Given the description of an element on the screen output the (x, y) to click on. 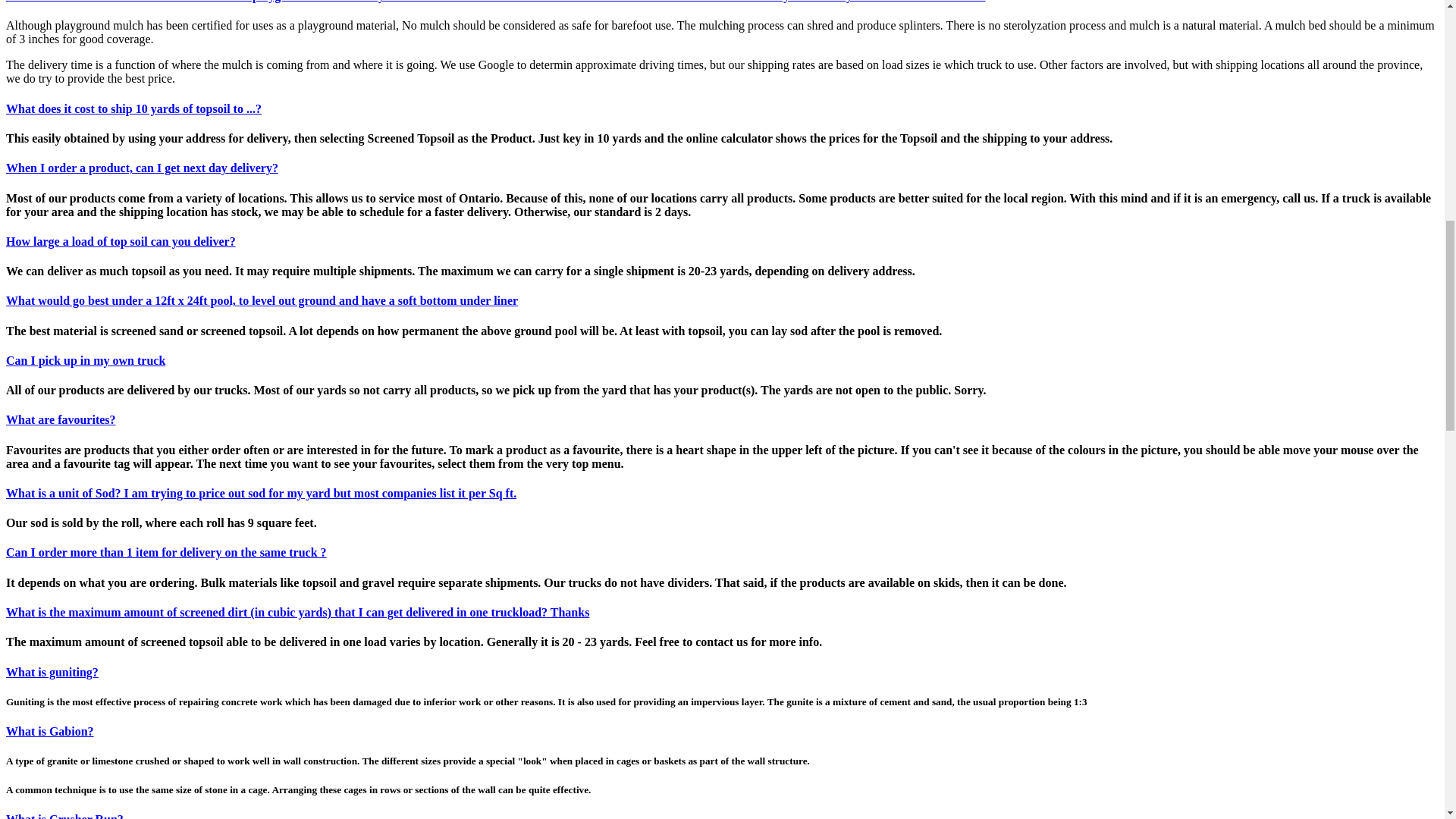
When I order a product, can I get next day delivery? (141, 167)
How large a load of top soil can you deliver? (120, 241)
What is Gabion? (49, 730)
What are favourites? (60, 419)
What is Crusher Run? (64, 816)
What does it cost to ship 10 yards of topsoil to ...? (133, 108)
Can I pick up in my own truck (85, 359)
What is guniting? (52, 671)
